Given the description of an element on the screen output the (x, y) to click on. 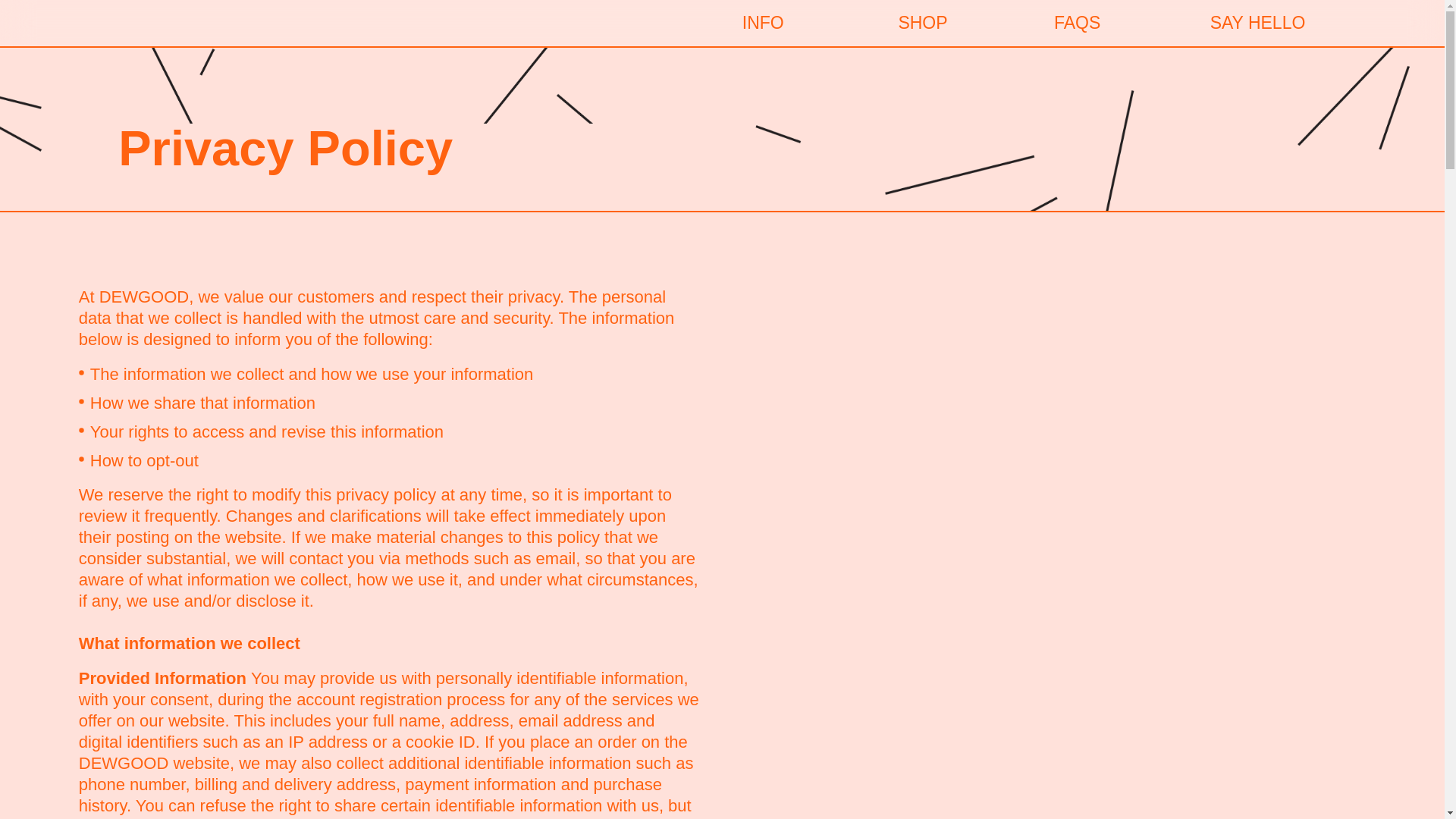
SHOP (922, 22)
INFO (763, 22)
FAQS (1077, 22)
SAY HELLO (1257, 22)
